Given the description of an element on the screen output the (x, y) to click on. 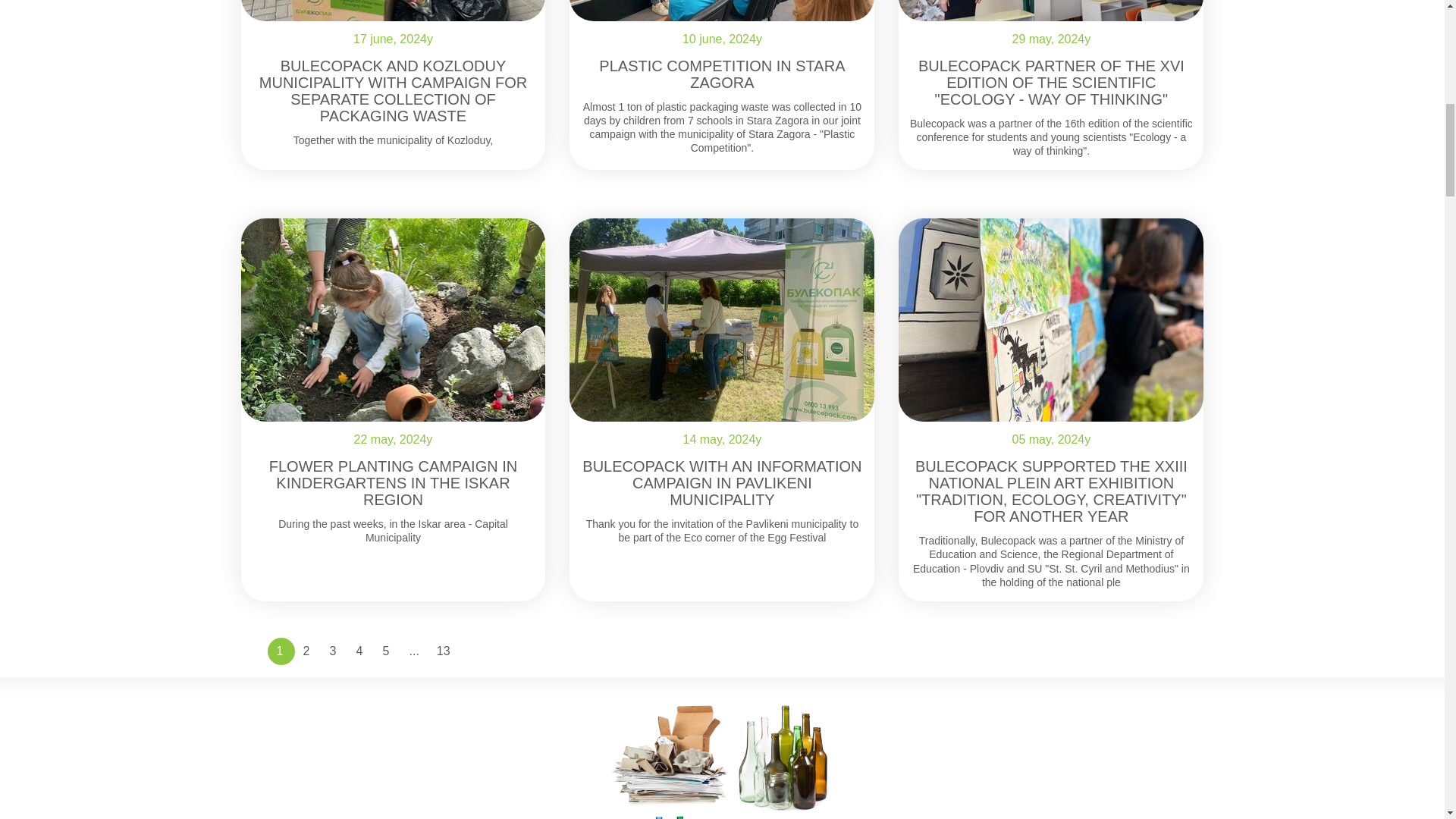
1 (280, 651)
3 (333, 651)
2 (307, 651)
5 (386, 651)
13 (444, 651)
... (414, 651)
4 (360, 651)
